Given the description of an element on the screen output the (x, y) to click on. 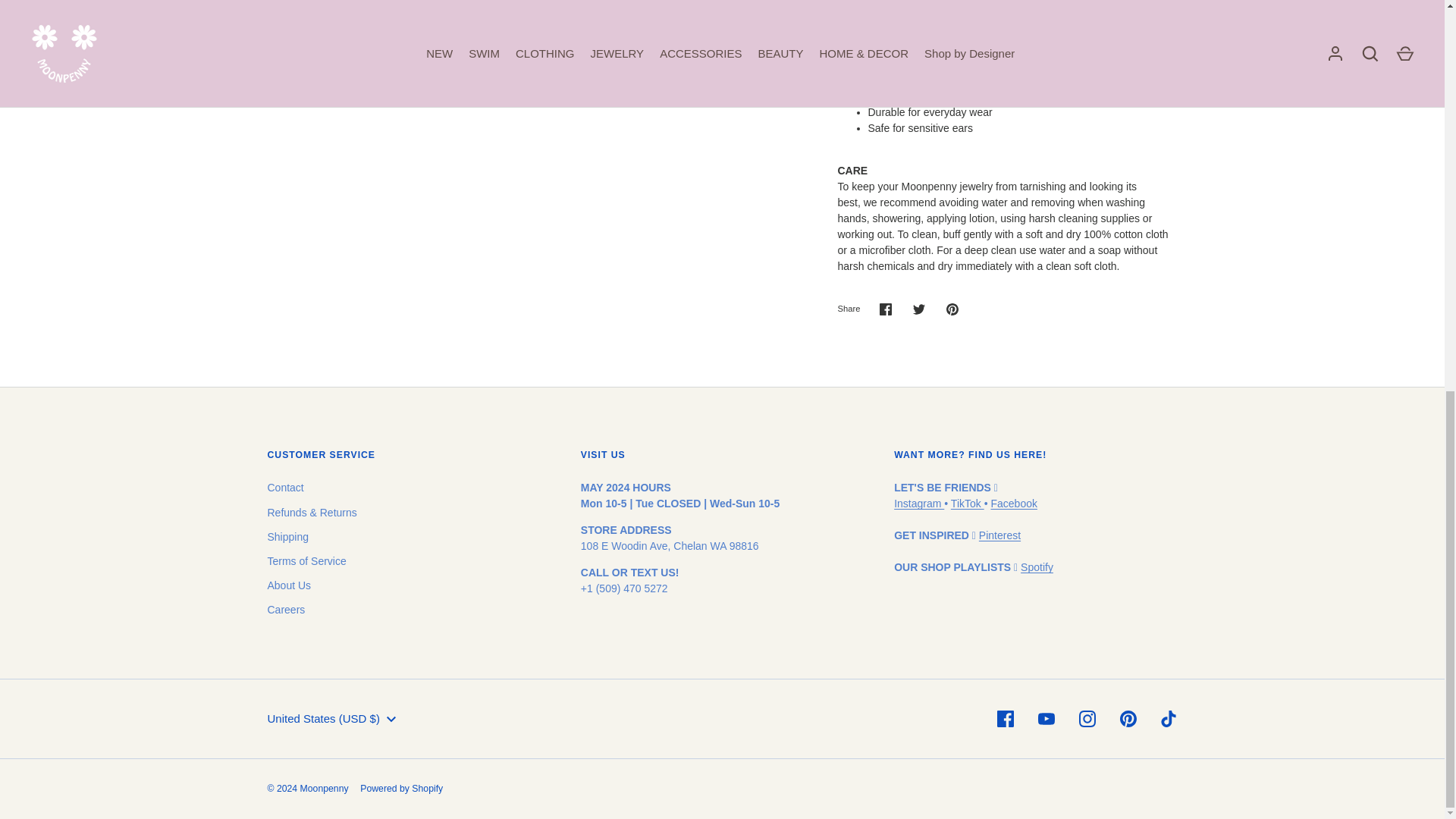
TikTok (967, 503)
Down (390, 719)
